Given the description of an element on the screen output the (x, y) to click on. 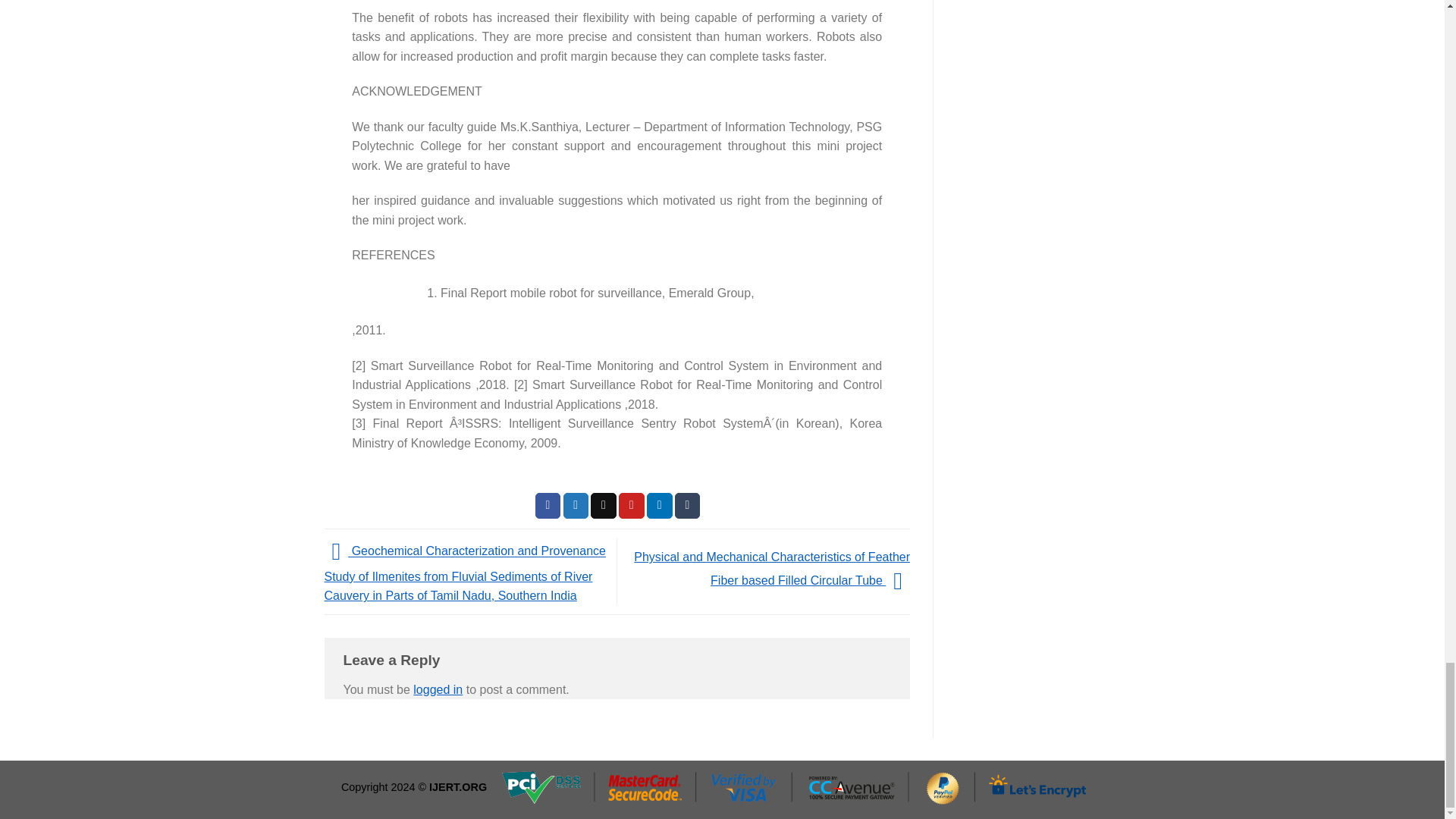
Share on Tumblr (687, 505)
Share on Facebook (547, 505)
Share on LinkedIn (659, 505)
Share on Twitter (576, 505)
Email to a Friend (603, 505)
Pin on Pinterest (631, 505)
